Given the description of an element on the screen output the (x, y) to click on. 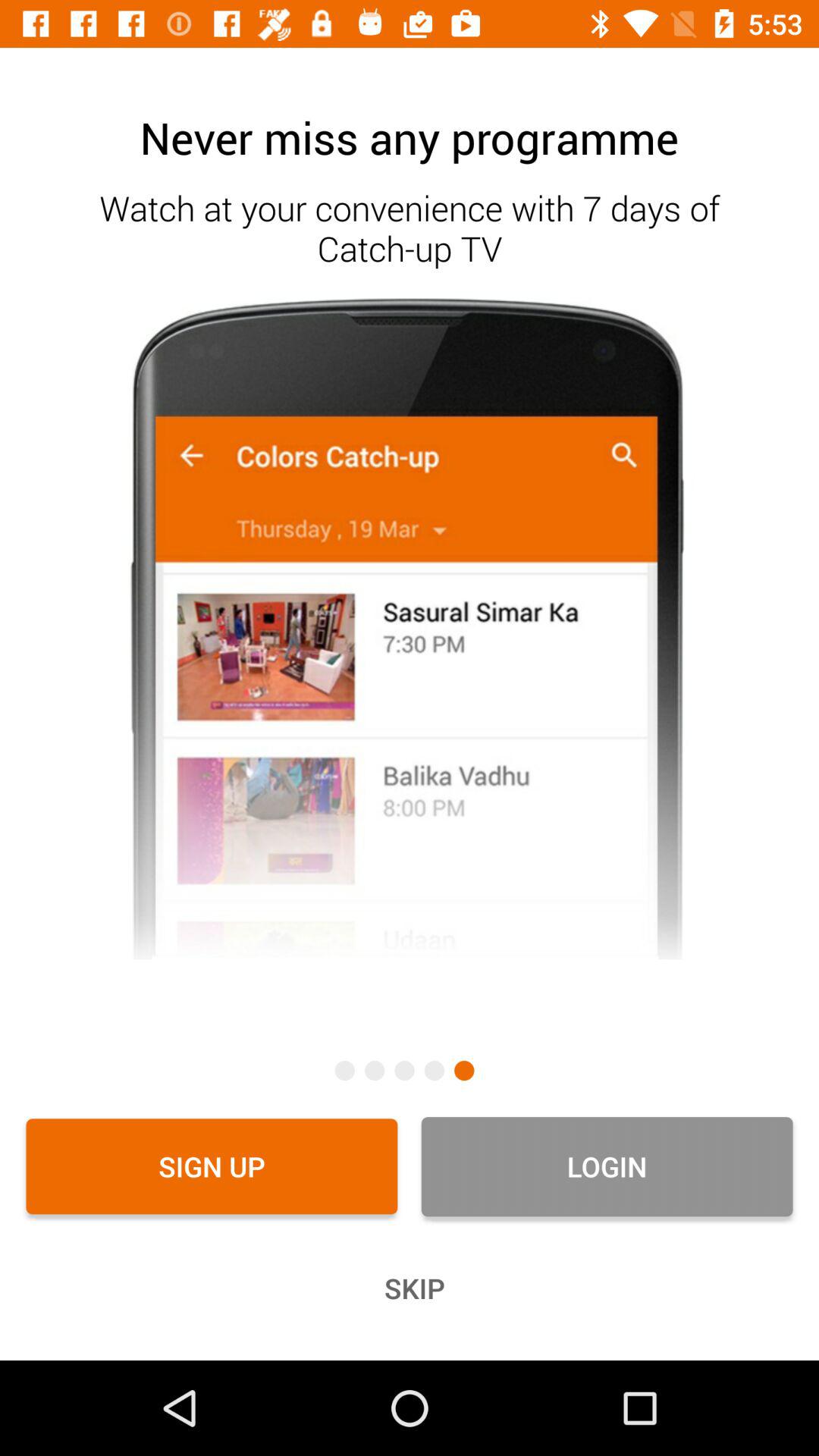
select the item to the left of the login (211, 1166)
